Given the description of an element on the screen output the (x, y) to click on. 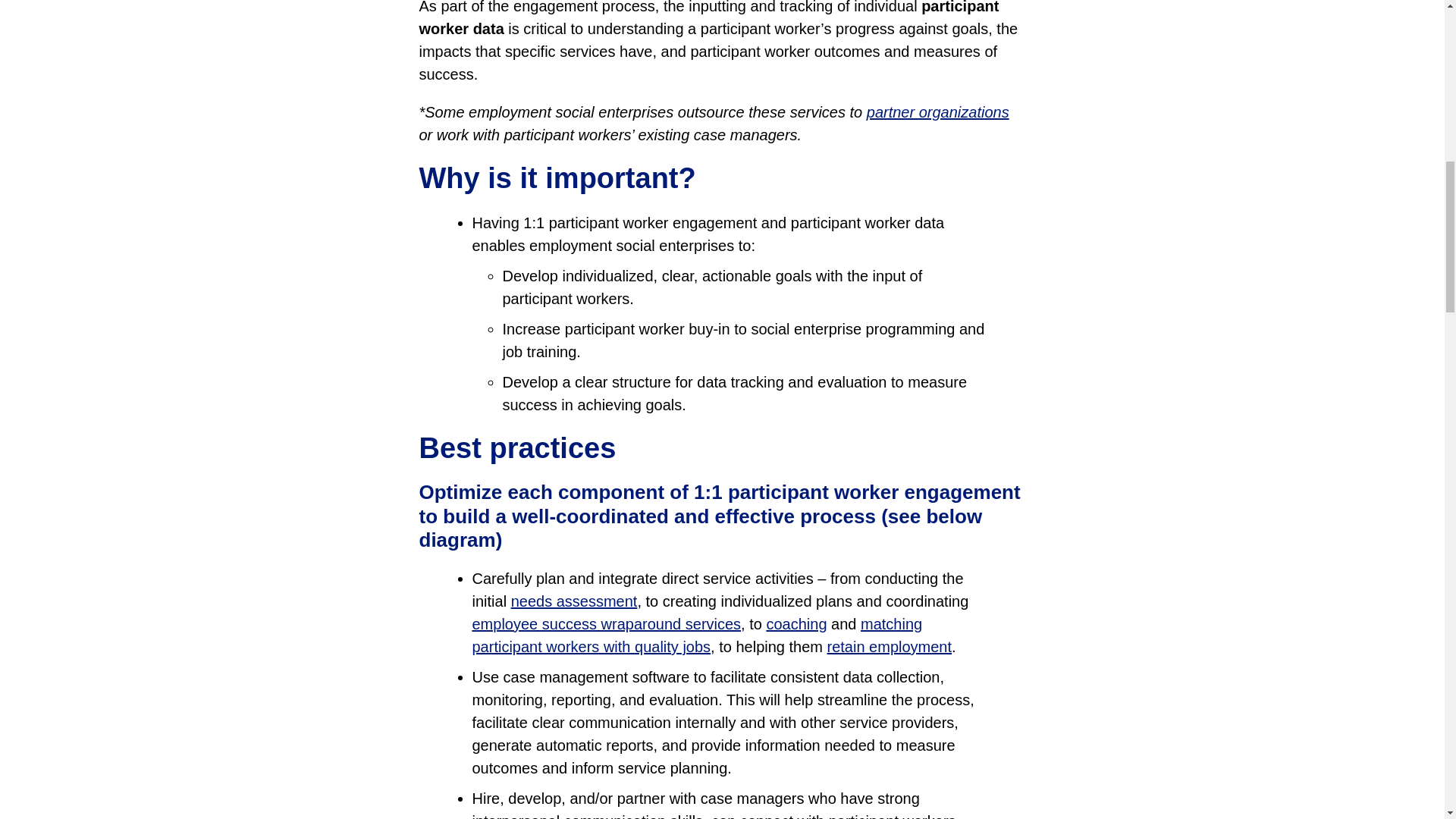
needs assessment (574, 600)
partner organizations (937, 112)
coaching (796, 623)
retain employment (889, 646)
employee success wraparound services (606, 623)
matching participant workers with quality jobs (696, 635)
